Given the description of an element on the screen output the (x, y) to click on. 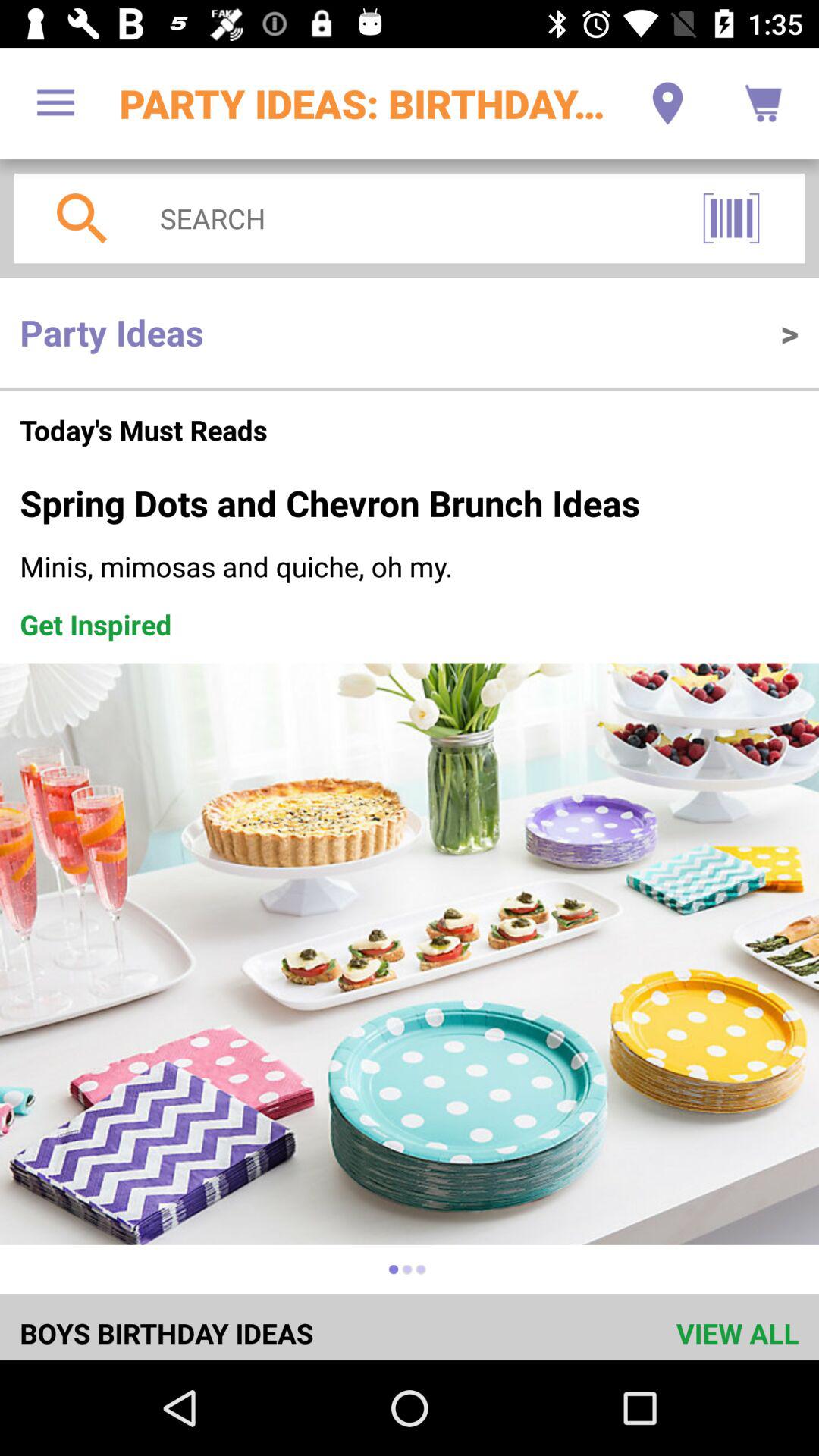
turn off item next to the party ideas birthday (667, 103)
